Given the description of an element on the screen output the (x, y) to click on. 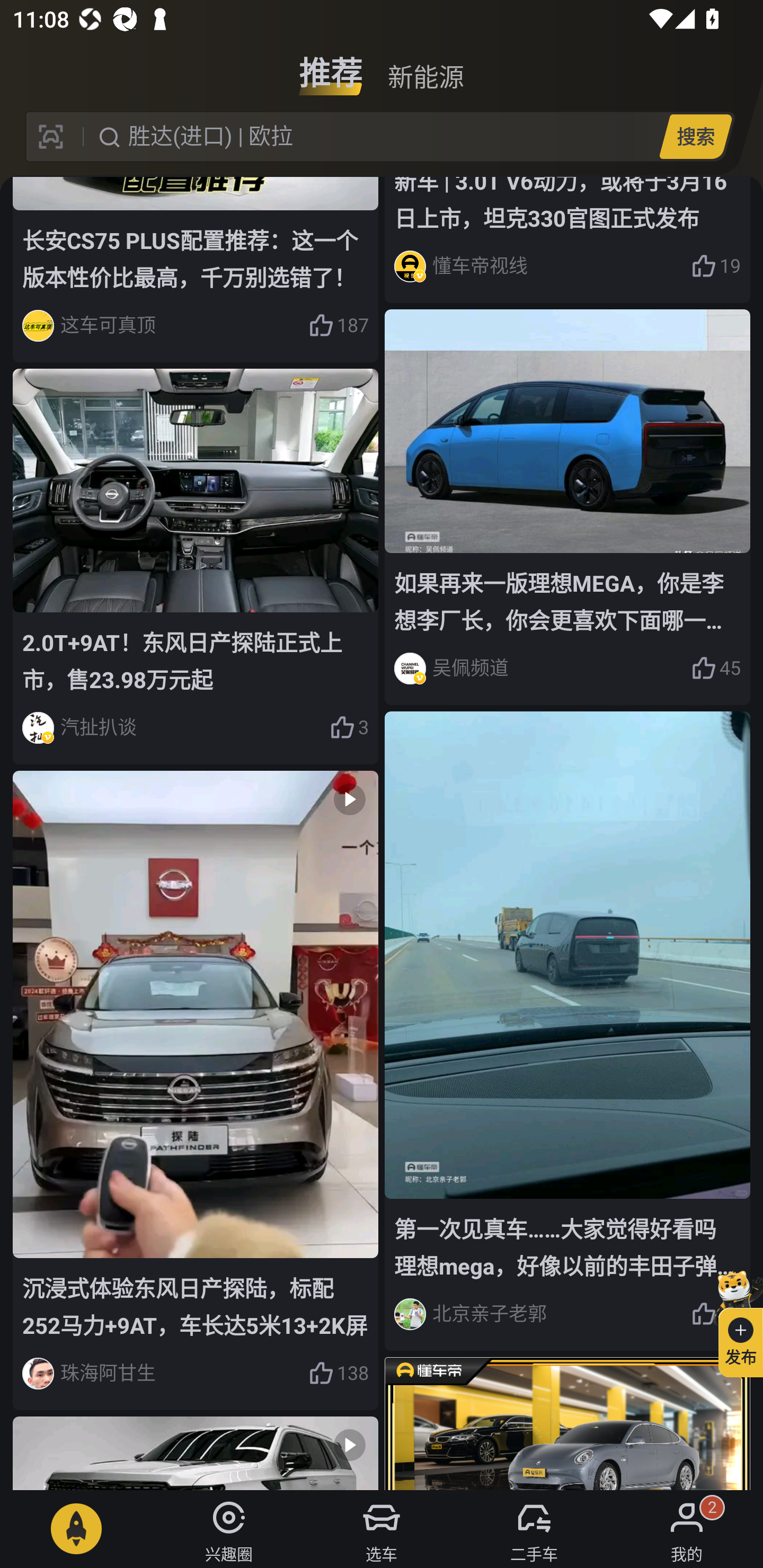
推荐 (330, 65)
新能源 (425, 65)
搜索 (695, 136)
长安CS75 PLUS配置推荐：这一个版本性价比最高，千万别选错了！ 这车可真顶 187 (195, 269)
新车 | 3.0T V6动力，或将于3月16日上市，坦克330官图正式发布 懂车帝视线 19 (567, 239)
19 (715, 266)
187 (338, 325)
2.0T+9AT！东风日产探陆正式上市，售23.98万元起 汽扯扒谈 3 (195, 566)
45 (715, 668)
3 (348, 727)
 沉浸式体验东风日产探陆，标配252马力+9AT，车长达5米13+2K屏 珠海阿甘生 138 (195, 1090)
发布 (732, 1321)
138 (338, 1373)
 兴趣圈 (228, 1528)
 选车 (381, 1528)
 二手车 (533, 1528)
 我的 (686, 1528)
